Given the description of an element on the screen output the (x, y) to click on. 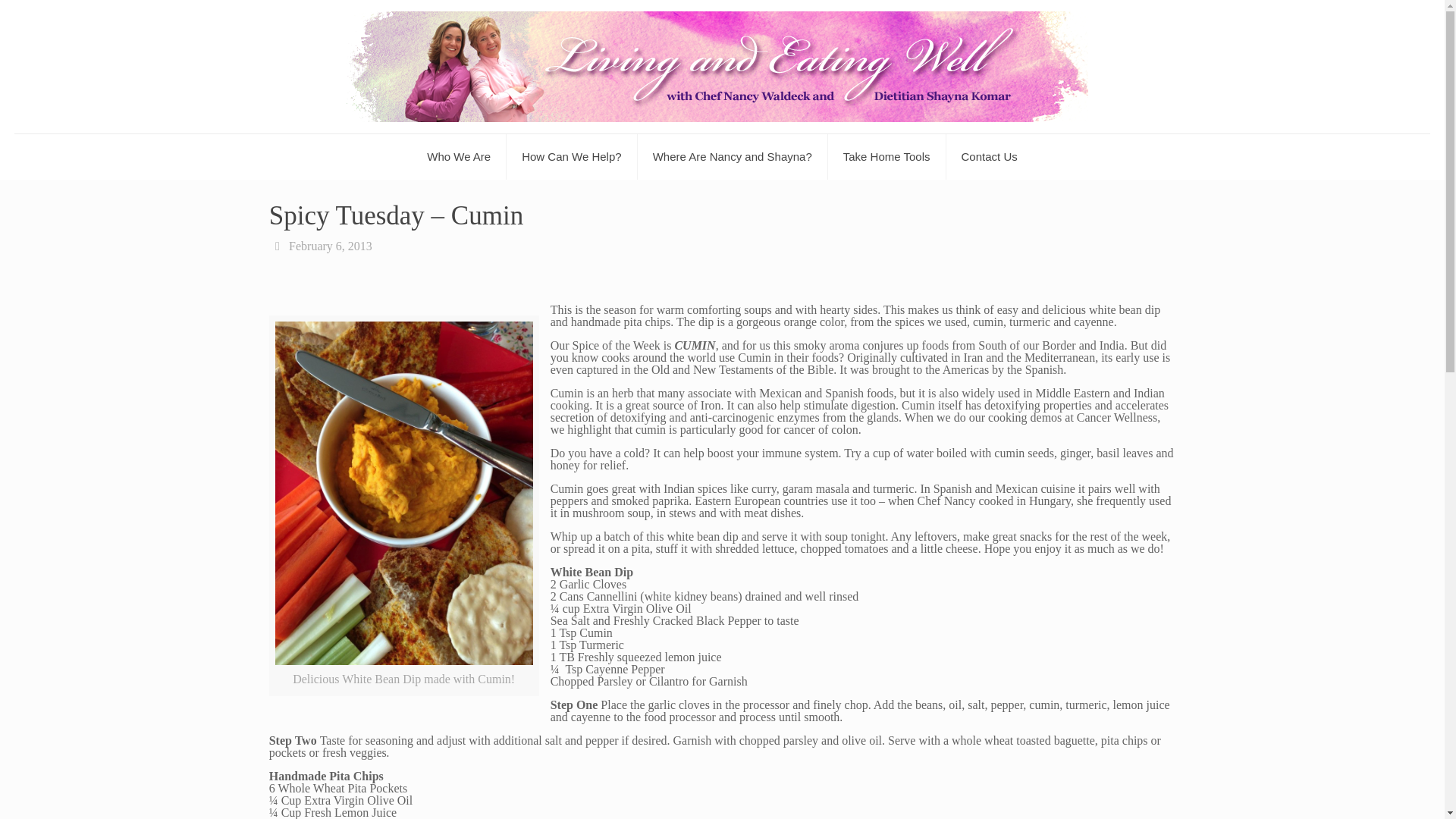
Take Home Tools (887, 156)
Living and Eating Well (721, 66)
Who We Are (459, 156)
How Can We Help? (571, 156)
Contact Us (989, 156)
Where Are Nancy and Shayna? (732, 156)
